Given the description of an element on the screen output the (x, y) to click on. 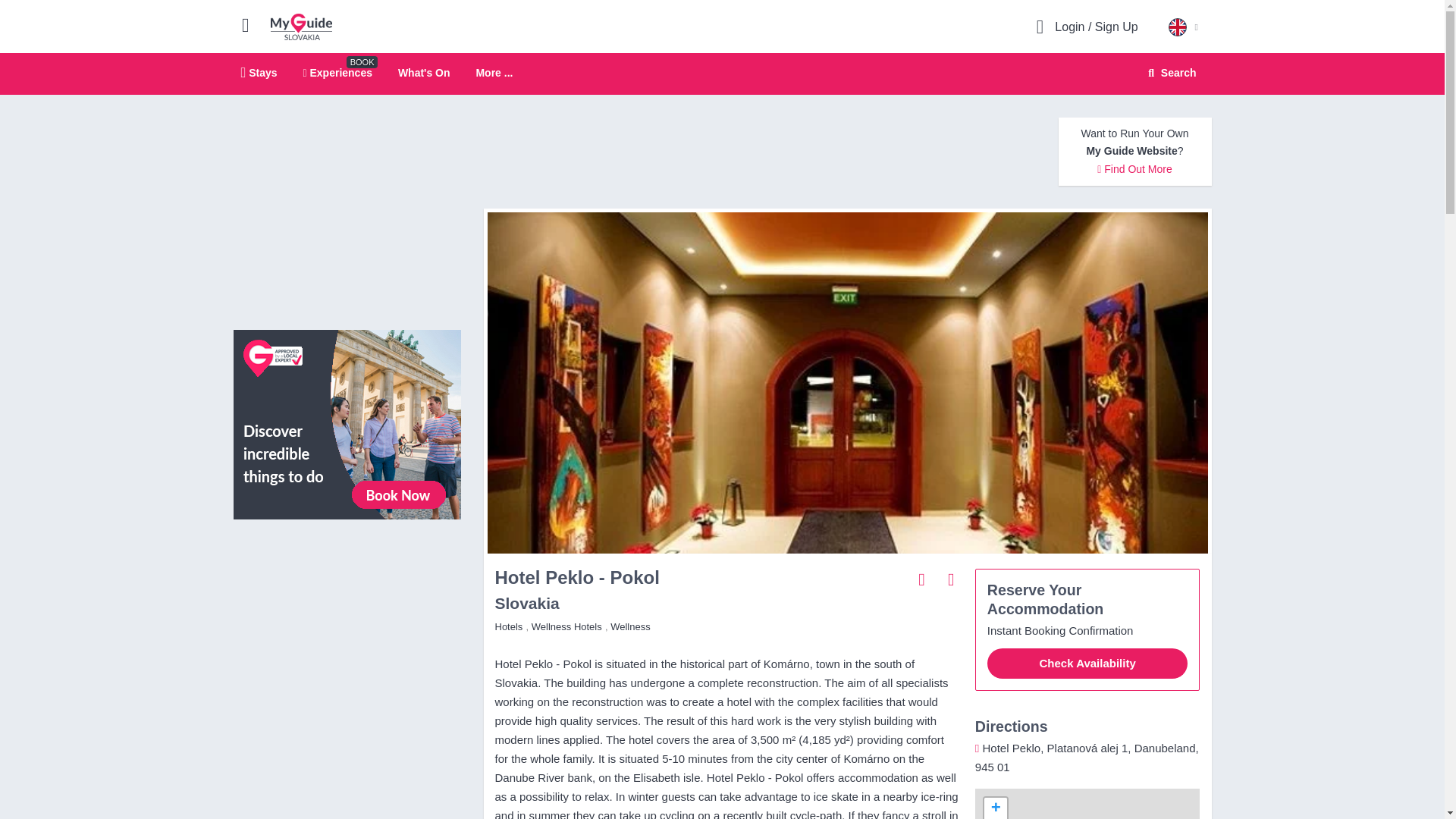
GetYourGuide Widget (721, 74)
What's On (346, 599)
Hotel Peklo - Pokol (423, 72)
More ... (337, 72)
View All Experiences (494, 72)
My Guide Slovakia (346, 423)
Zoom in (300, 25)
Search (995, 808)
Stays (1169, 72)
